Given the description of an element on the screen output the (x, y) to click on. 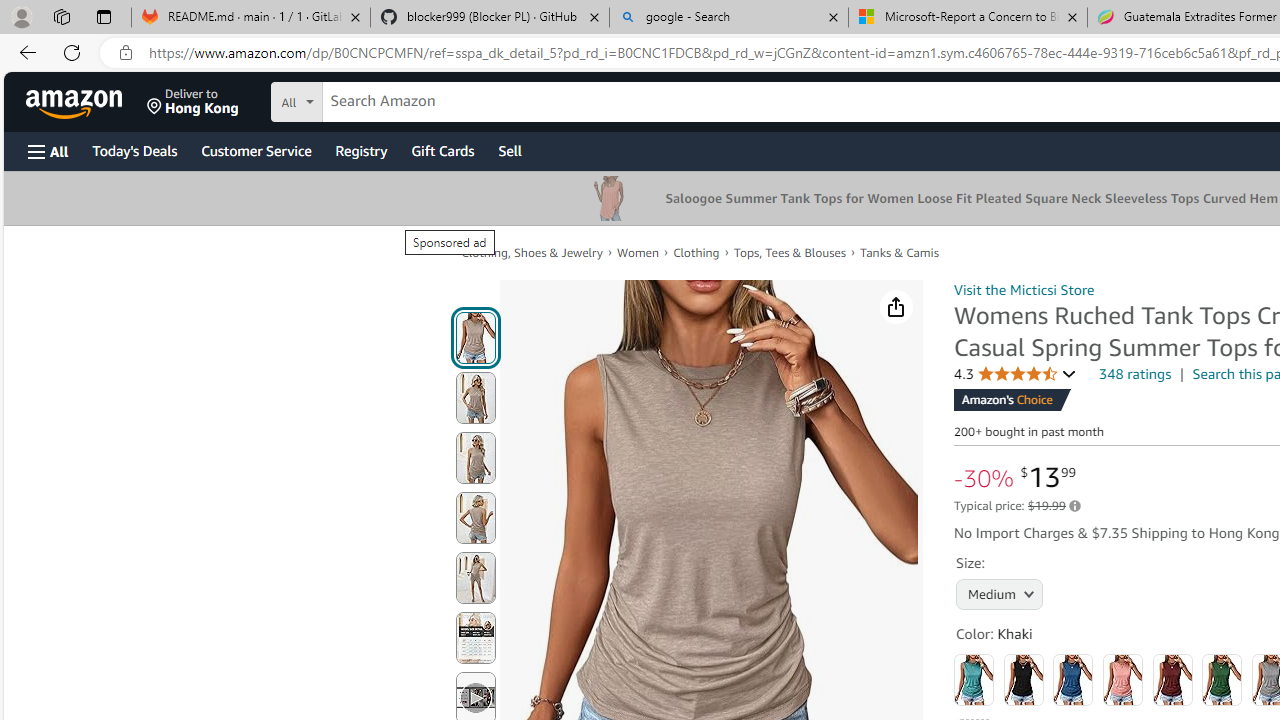
Customer Service (256, 150)
Tanks & Camis (899, 251)
Clothing (696, 251)
Coral (1123, 679)
Women (638, 252)
Blue (1073, 679)
Deliver to Hong Kong (193, 101)
AutomationID: native_dropdown_selected_size_name (999, 592)
Black (1023, 679)
Black (1023, 679)
Amazon (76, 101)
Learn more about Amazon pricing and savings (1074, 506)
